Given the description of an element on the screen output the (x, y) to click on. 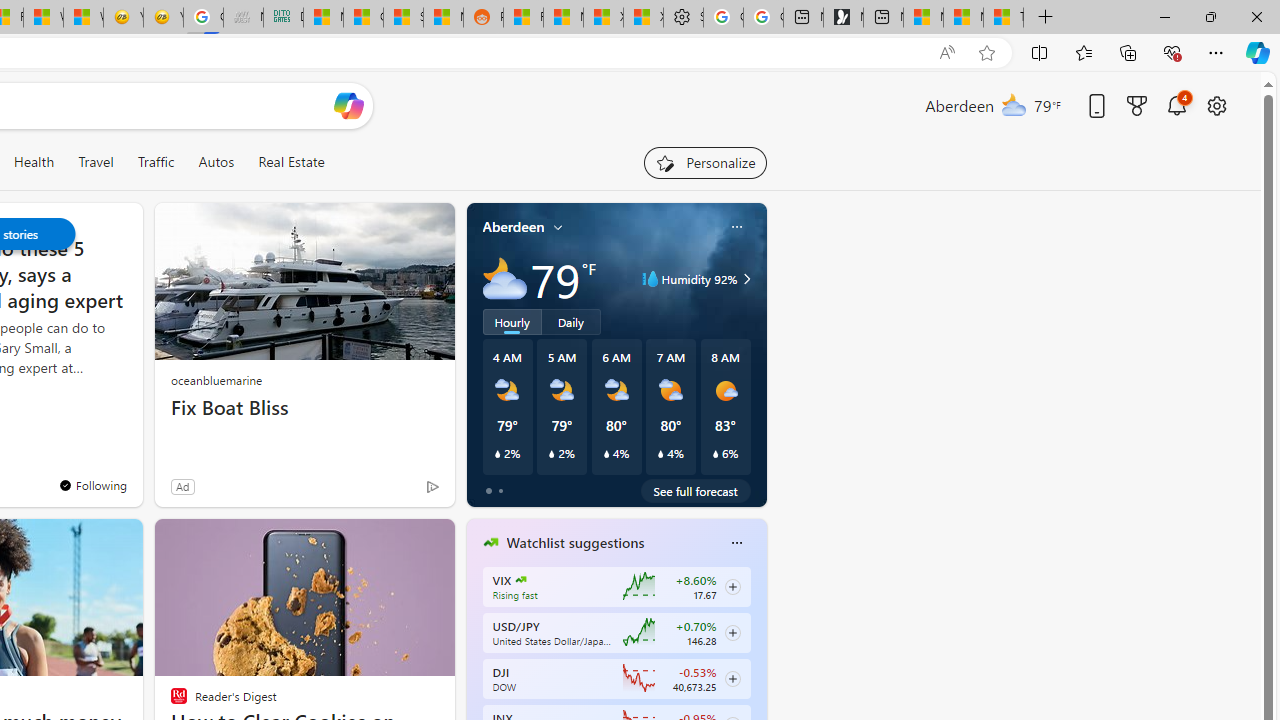
Class: weather-current-precipitation-glyph (715, 453)
Humidity 92% (744, 278)
Class: follow-button  m (732, 678)
You're following FOX News (92, 485)
My location (558, 227)
